Given the description of an element on the screen output the (x, y) to click on. 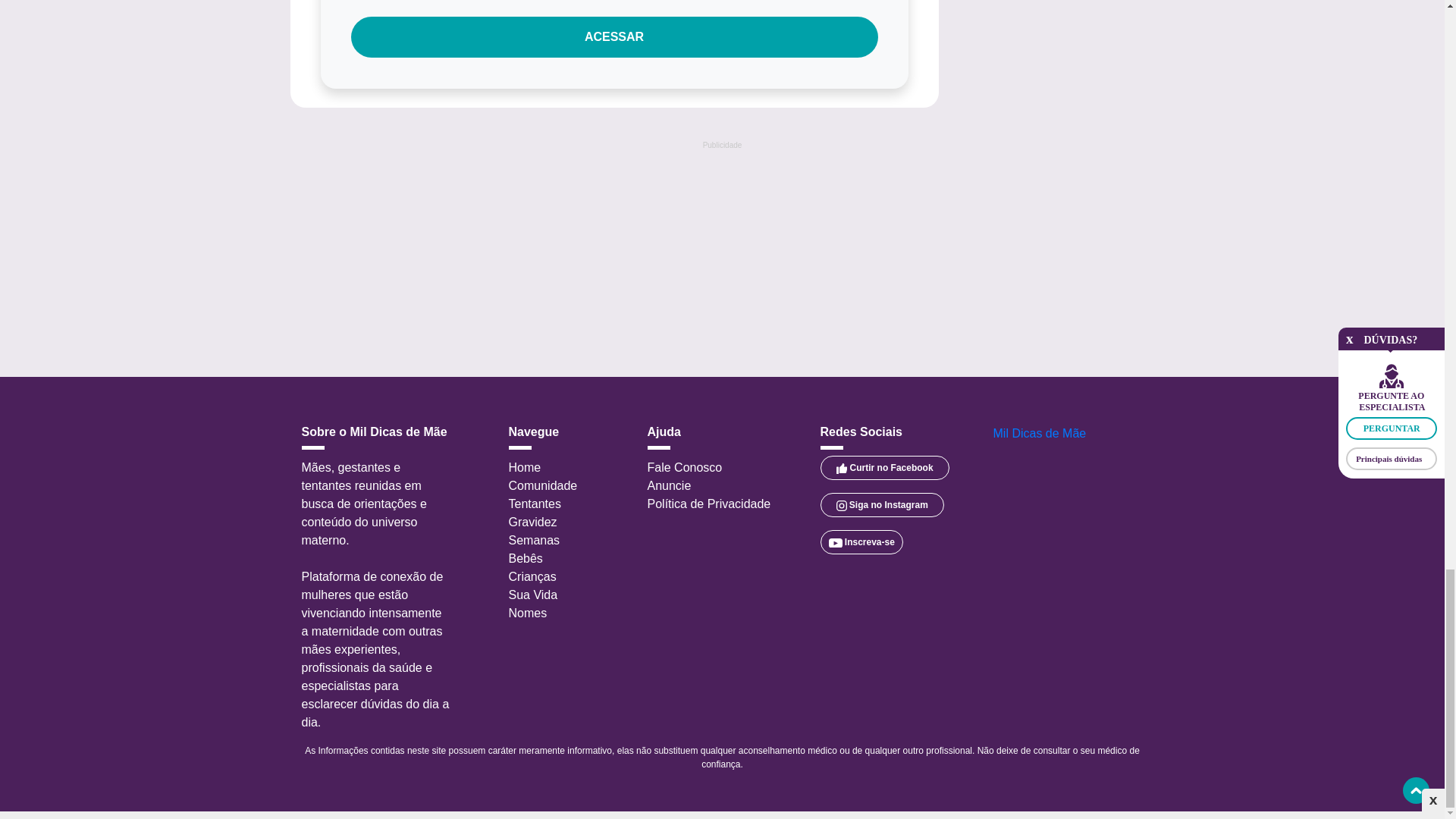
Acessar (613, 36)
